Given the description of an element on the screen output the (x, y) to click on. 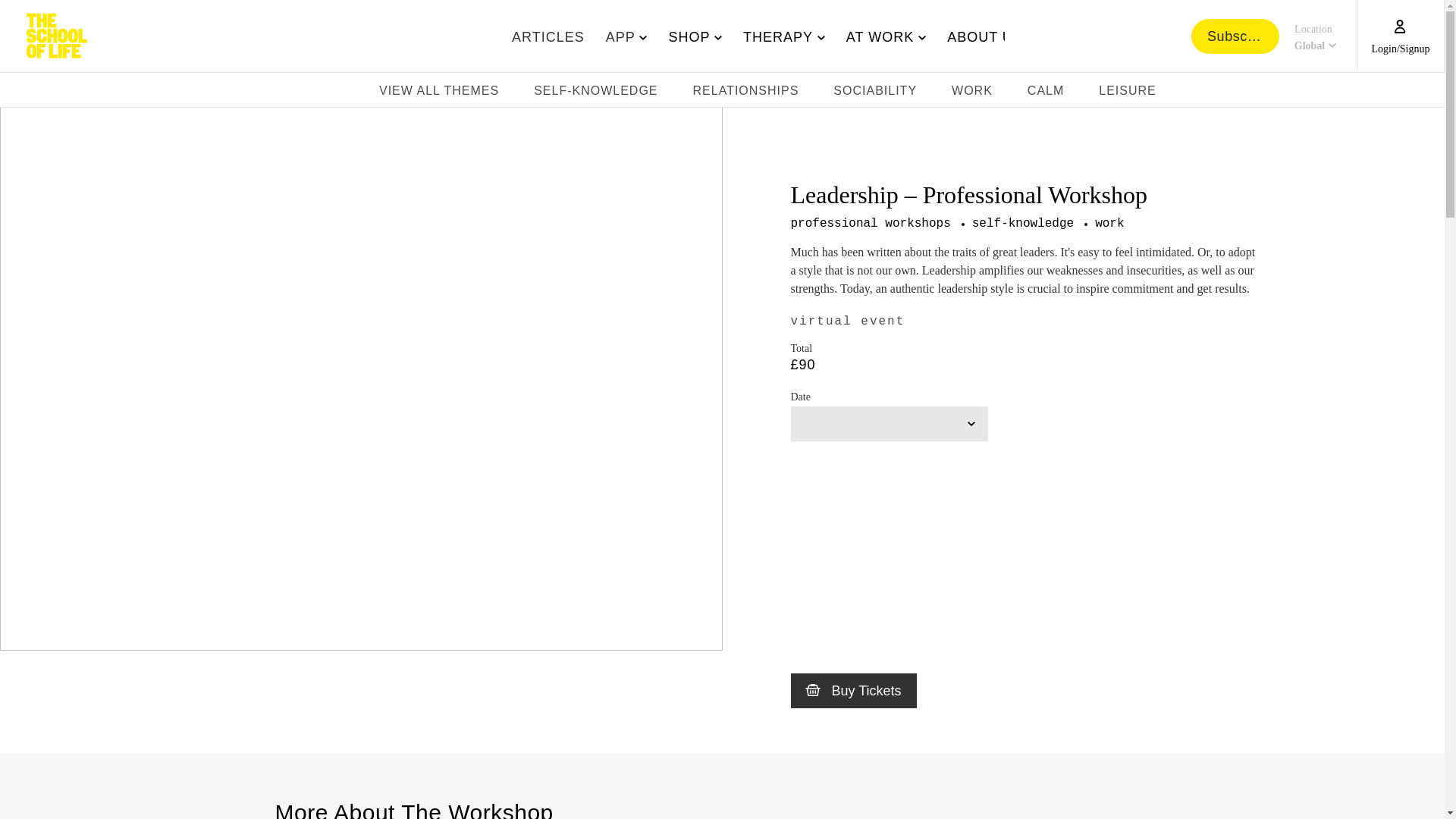
ARTICLES (548, 37)
X (1388, 92)
Instagram (1323, 92)
Youtube (1366, 92)
Facebook (1411, 92)
Linkedin (1433, 92)
Subscribe (773, 36)
Subscribe (1312, 36)
